Given the description of an element on the screen output the (x, y) to click on. 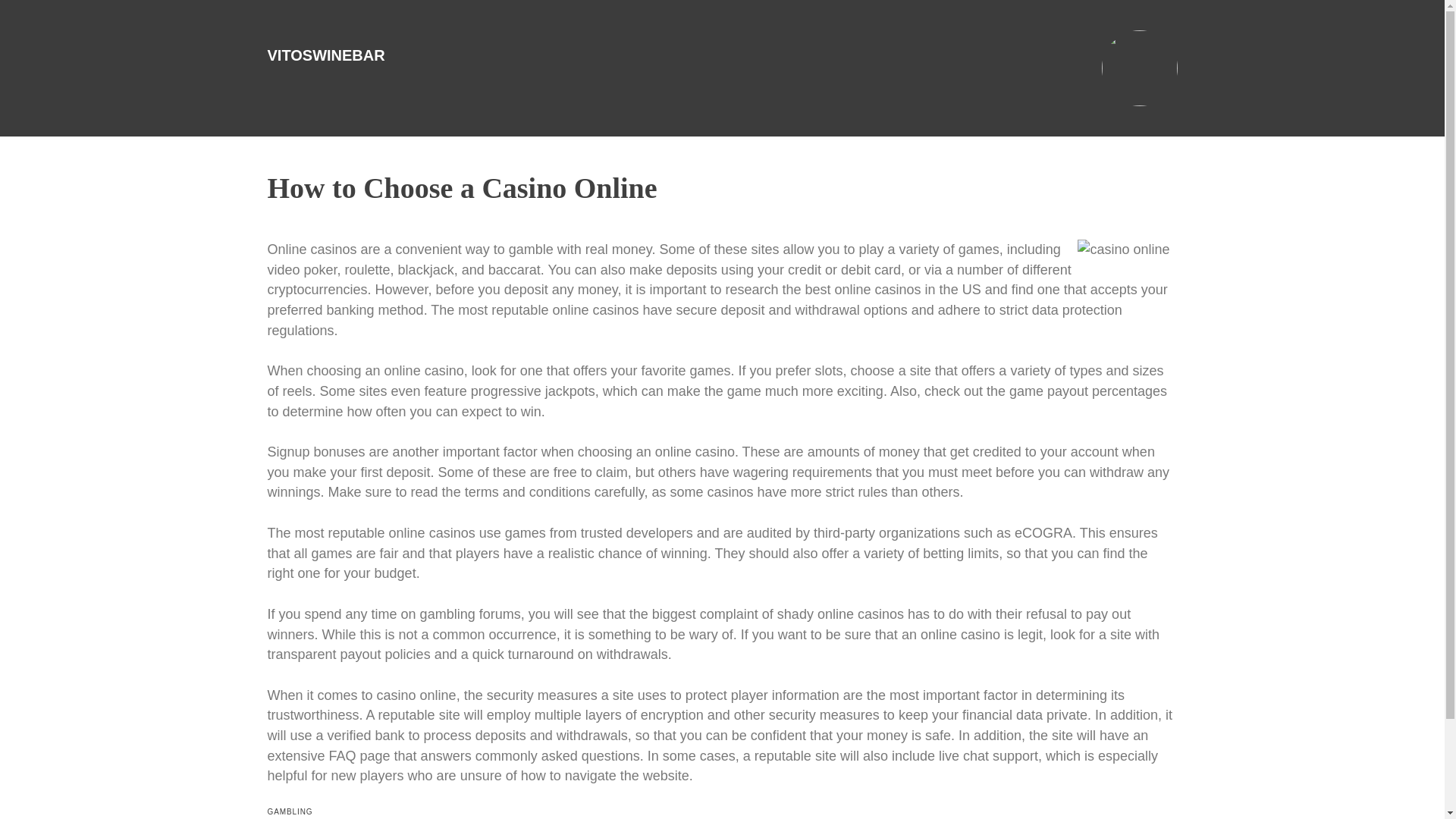
VITOSWINEBAR (325, 54)
GAMBLING (289, 811)
vitoswinebar (325, 54)
